Given the description of an element on the screen output the (x, y) to click on. 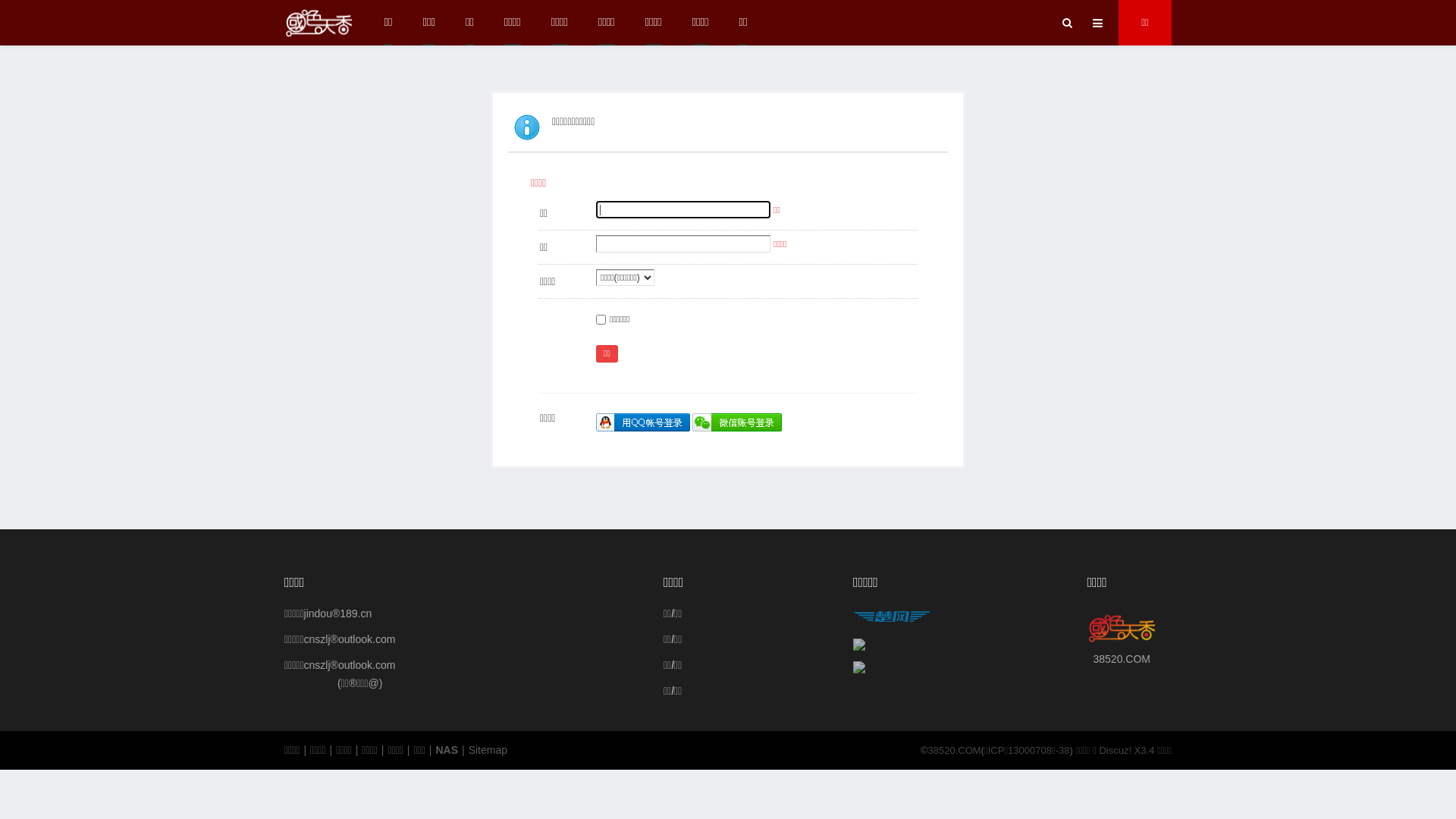
NAS Element type: text (446, 750)
38520.COM Element type: text (954, 750)
Sitemap Element type: text (487, 750)
